Given the description of an element on the screen output the (x, y) to click on. 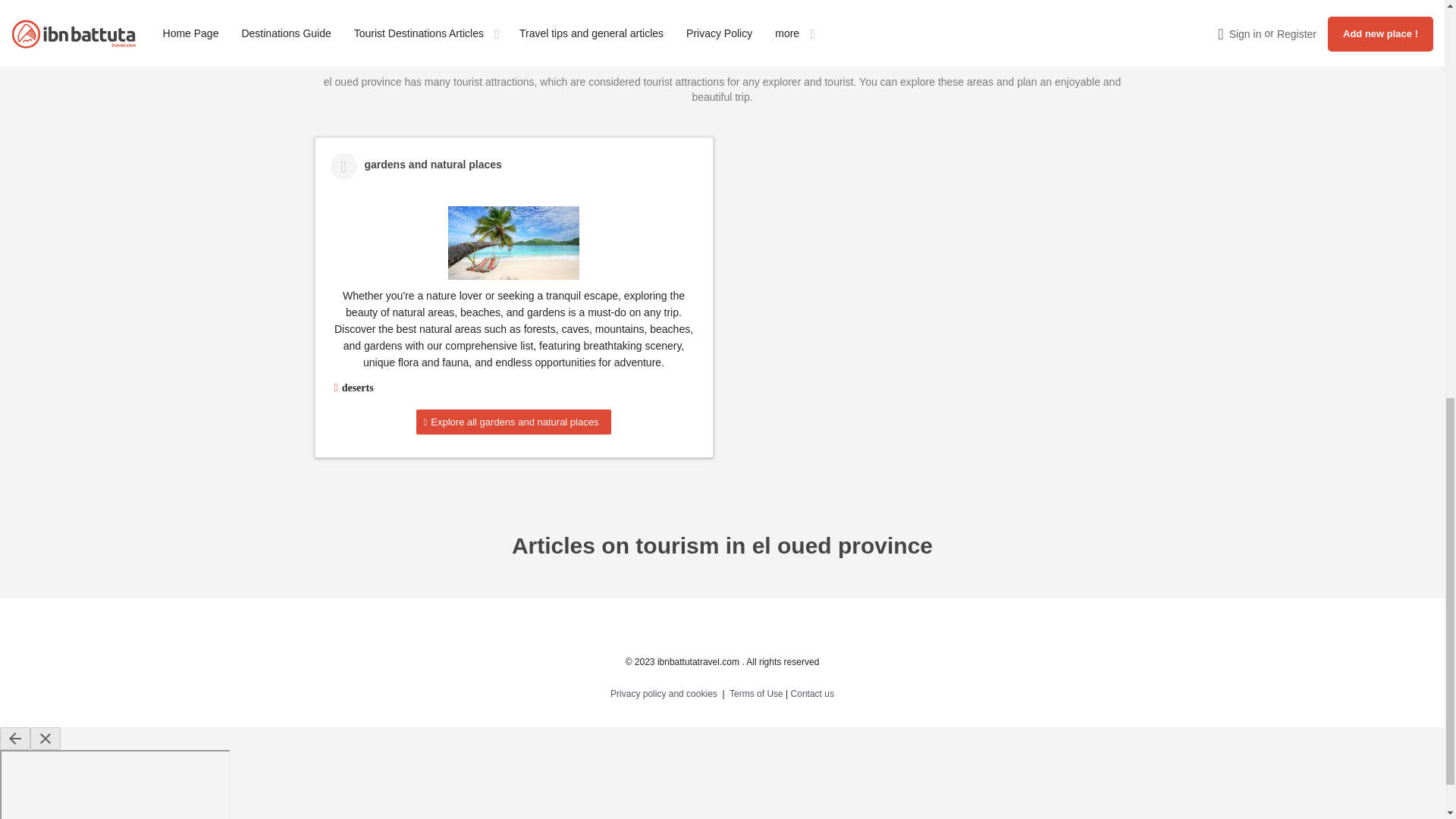
gardens and natural places (513, 243)
Terms of Use (756, 693)
Explore all gardens and natural places (513, 421)
Contact us (812, 693)
deserts (357, 387)
Privacy policy and cookies (663, 693)
